Given the description of an element on the screen output the (x, y) to click on. 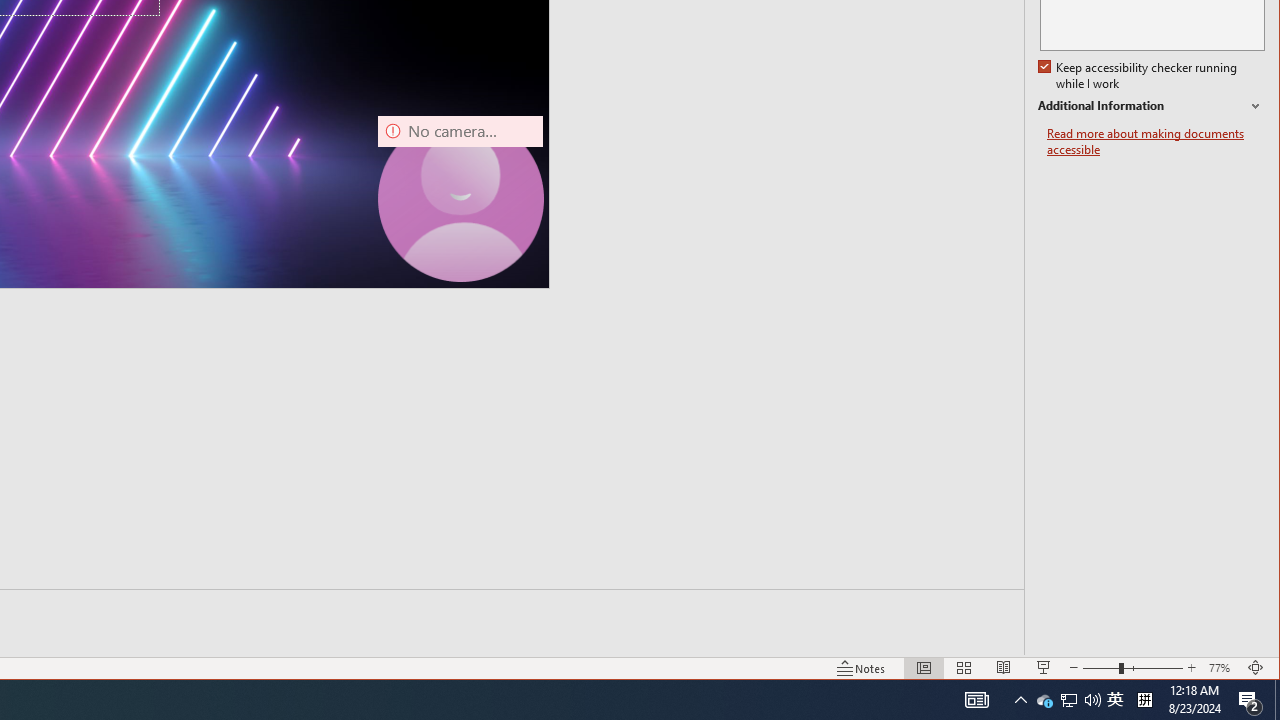
Zoom 77% (1222, 668)
